Given the description of an element on the screen output the (x, y) to click on. 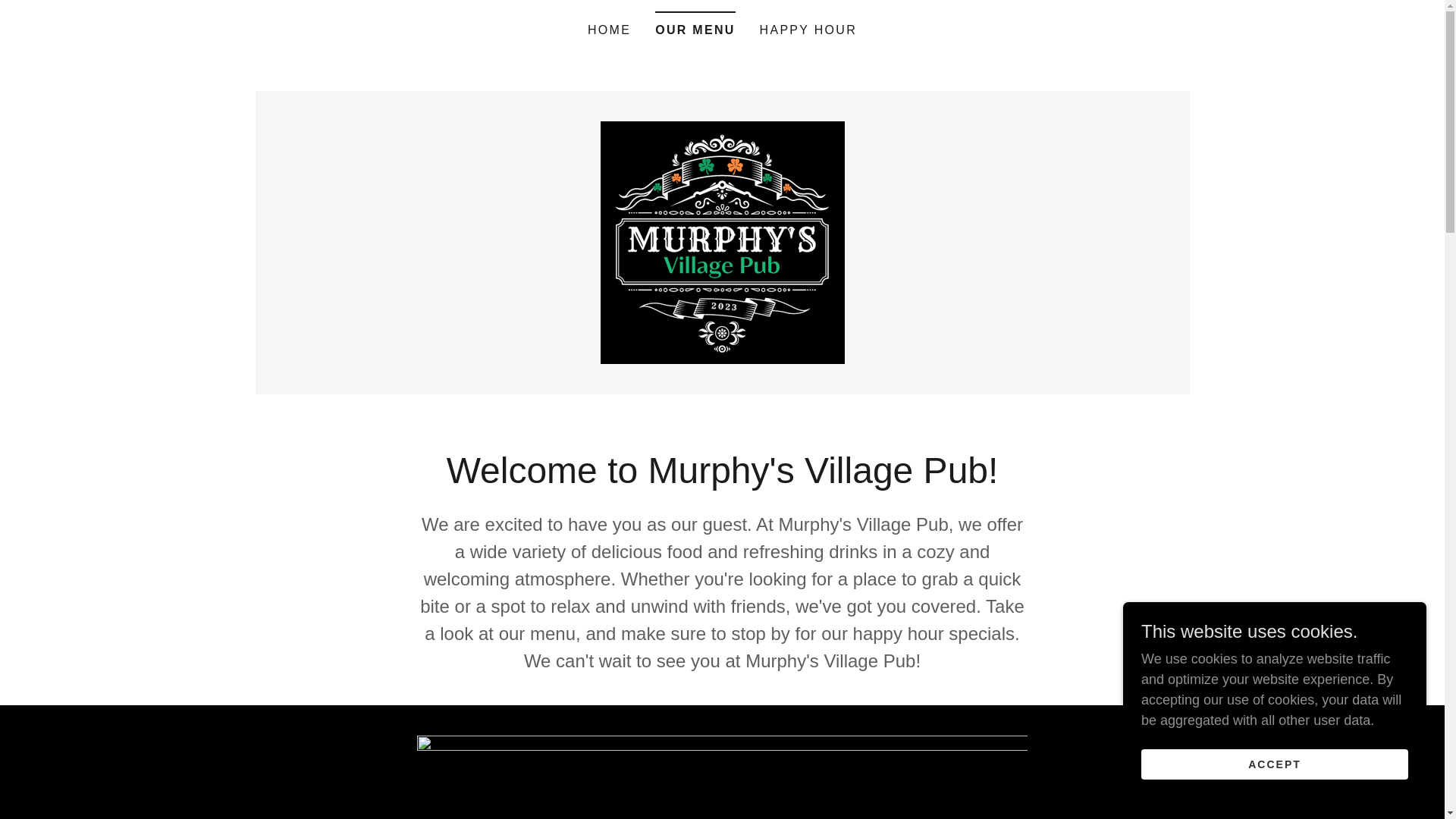
OUR MENU (695, 25)
ACCEPT (1274, 764)
HAPPY HOUR (808, 30)
HOME (608, 30)
